Given the description of an element on the screen output the (x, y) to click on. 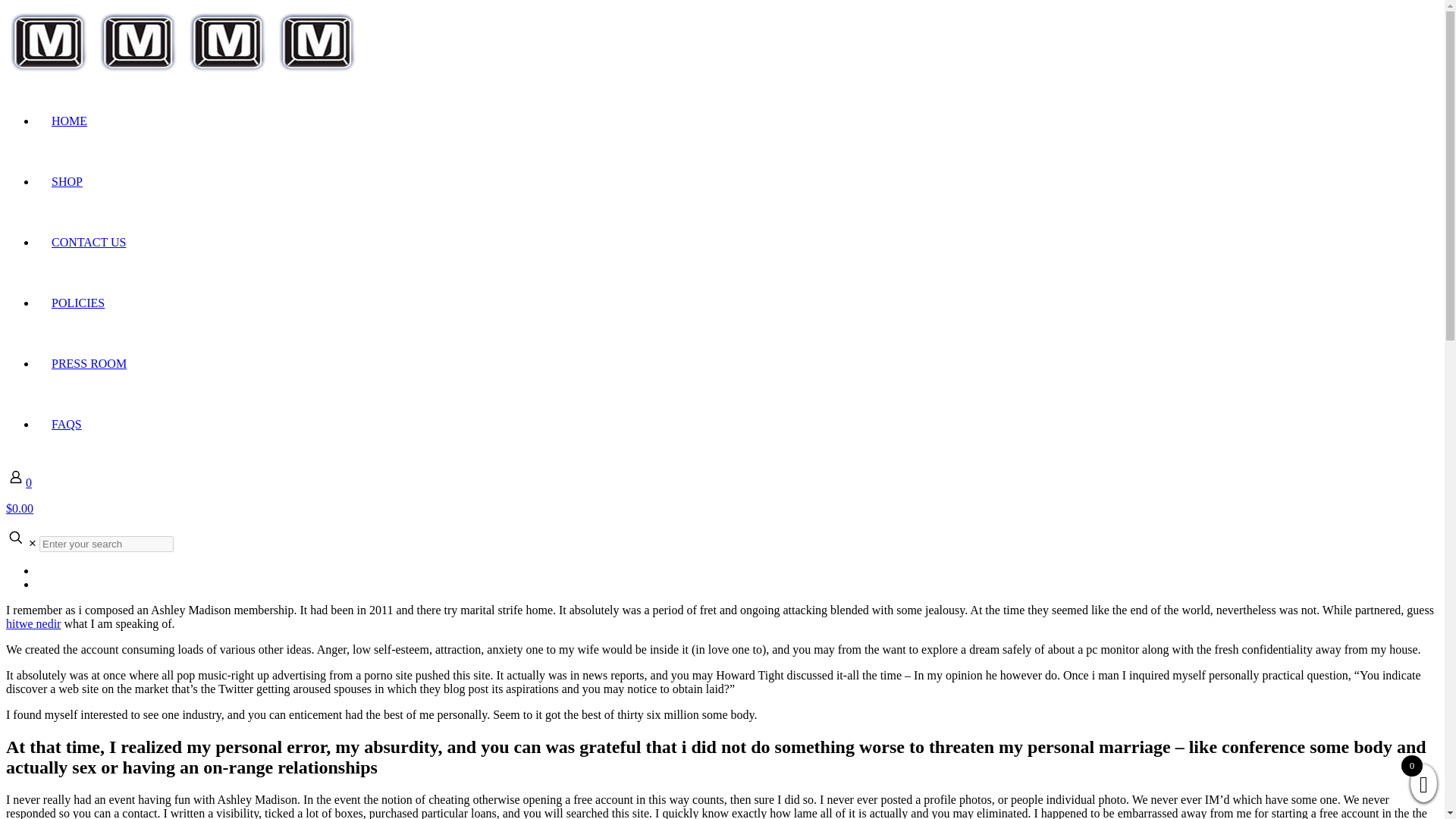
FAQS (66, 423)
MoreKeyboard (184, 71)
CONTACT US (88, 241)
POLICIES (77, 302)
hitwe nedir (33, 623)
HOME (68, 120)
SHOP (66, 181)
PRESS ROOM (88, 363)
